Given the description of an element on the screen output the (x, y) to click on. 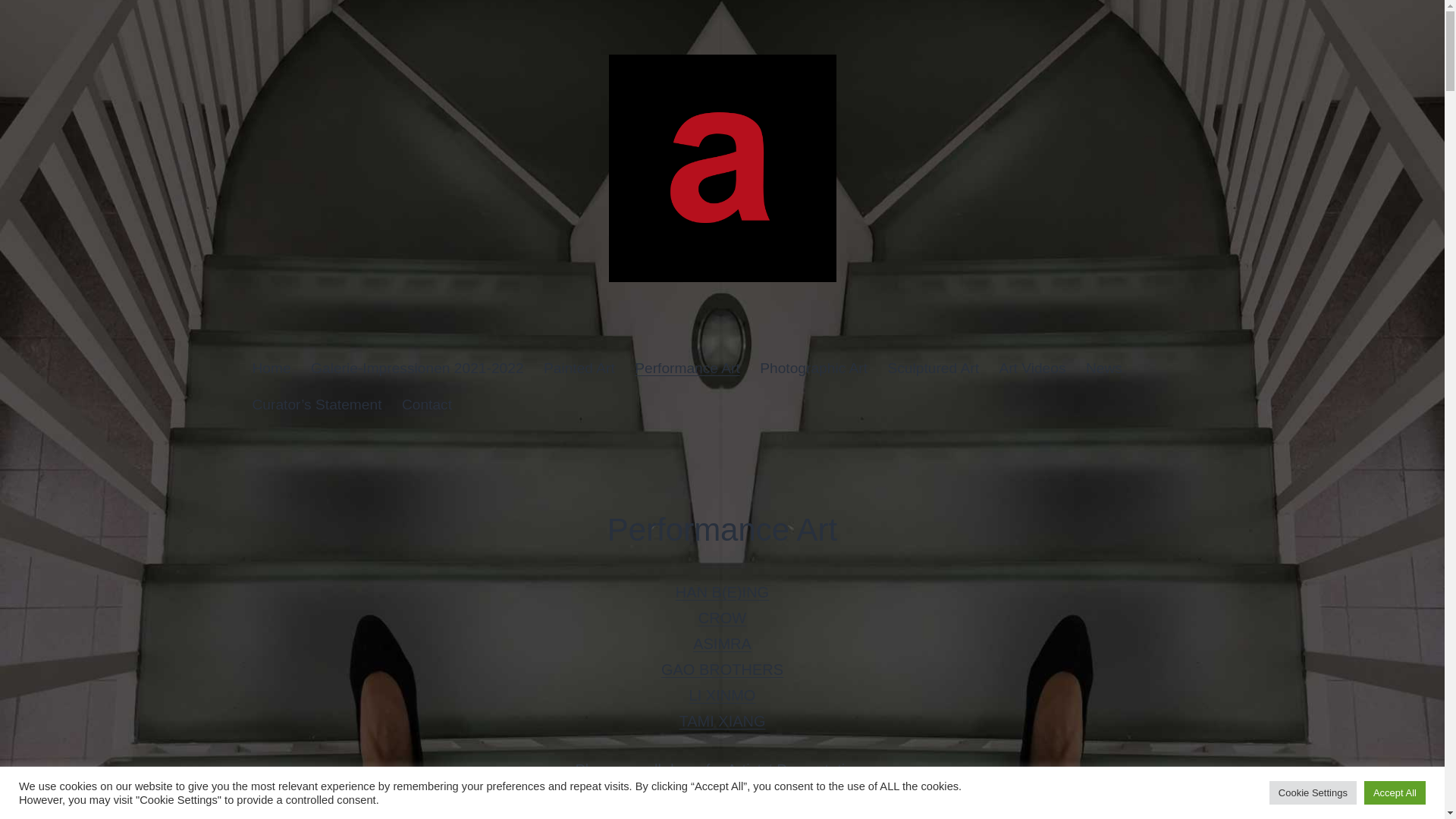
TAMI XIANG (721, 720)
Art Videos (1031, 368)
Contact (427, 404)
ASIMRA (722, 643)
GAO BROTHERS (722, 669)
Performance Art (686, 368)
CROW (721, 617)
Galerie-Impressionen 2021-2022 (417, 368)
Home (271, 368)
Sculptured Art (932, 368)
Photographic Art (813, 368)
Painted Art (579, 368)
News (1103, 368)
LI XINMO (721, 695)
